Given the description of an element on the screen output the (x, y) to click on. 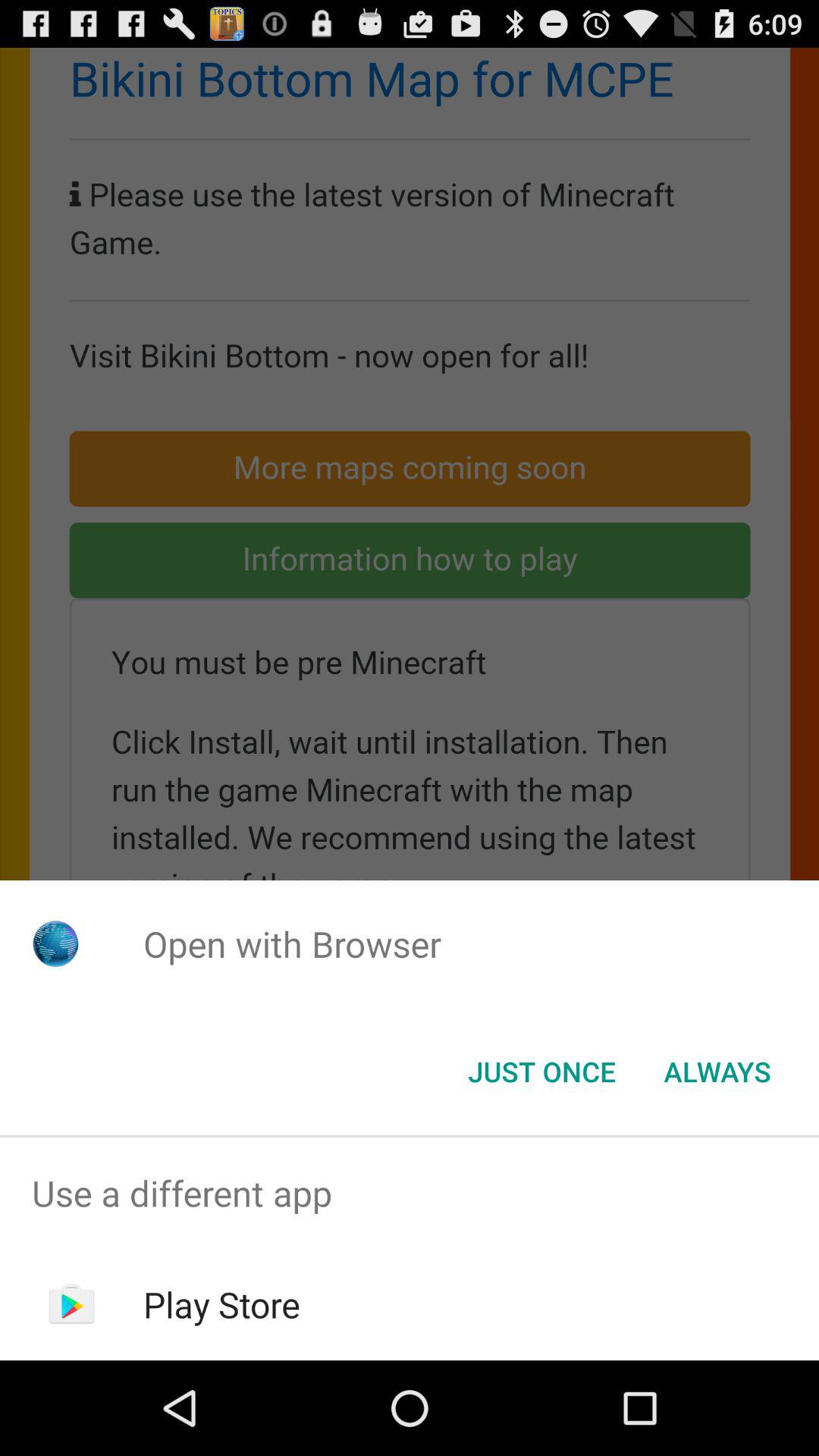
launch item above the play store app (409, 1192)
